Given the description of an element on the screen output the (x, y) to click on. 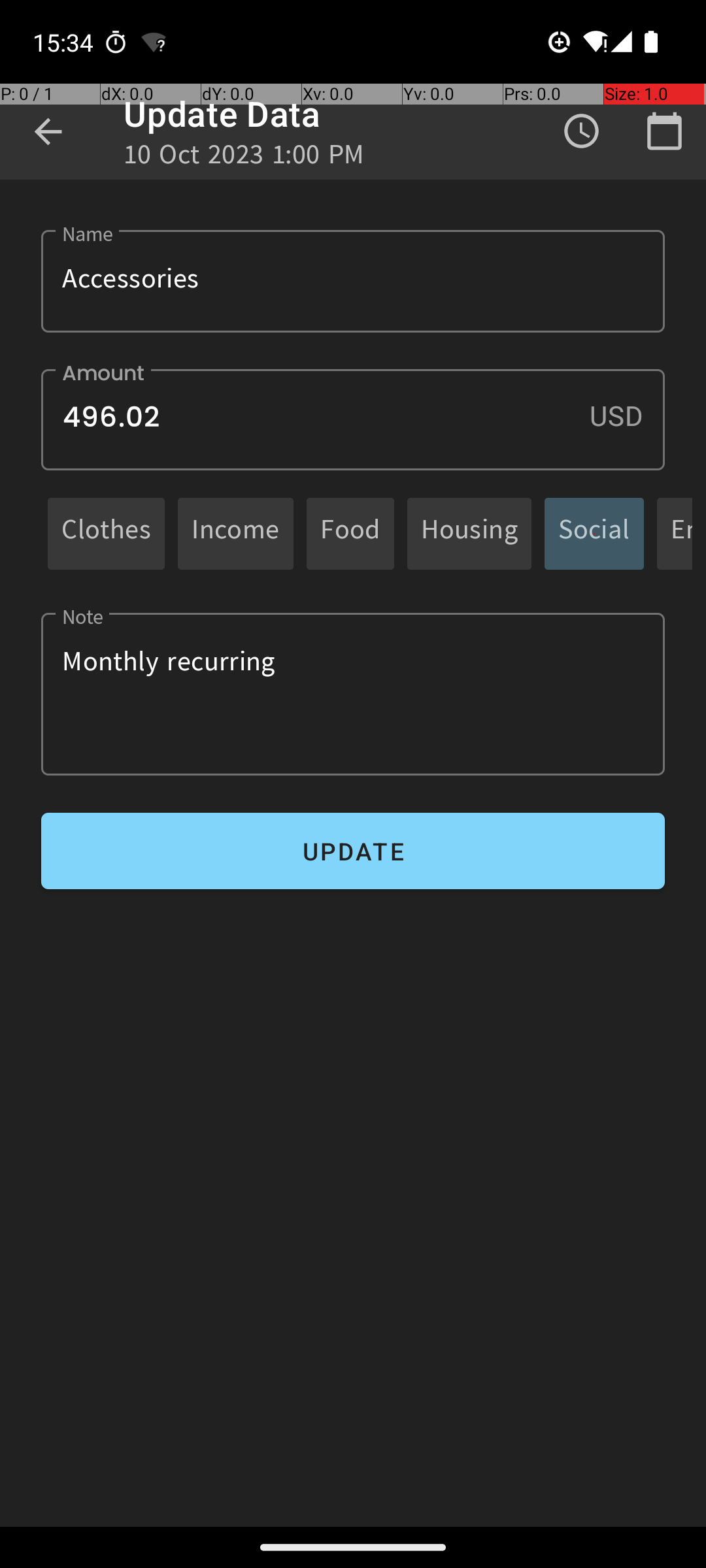
10 Oct 2023 1:00 PM Element type: android.widget.TextView (243, 157)
Accessories Element type: android.widget.EditText (352, 280)
496.02 Element type: android.widget.EditText (352, 419)
Clothes Element type: android.widget.TextView (106, 533)
